Given the description of an element on the screen output the (x, y) to click on. 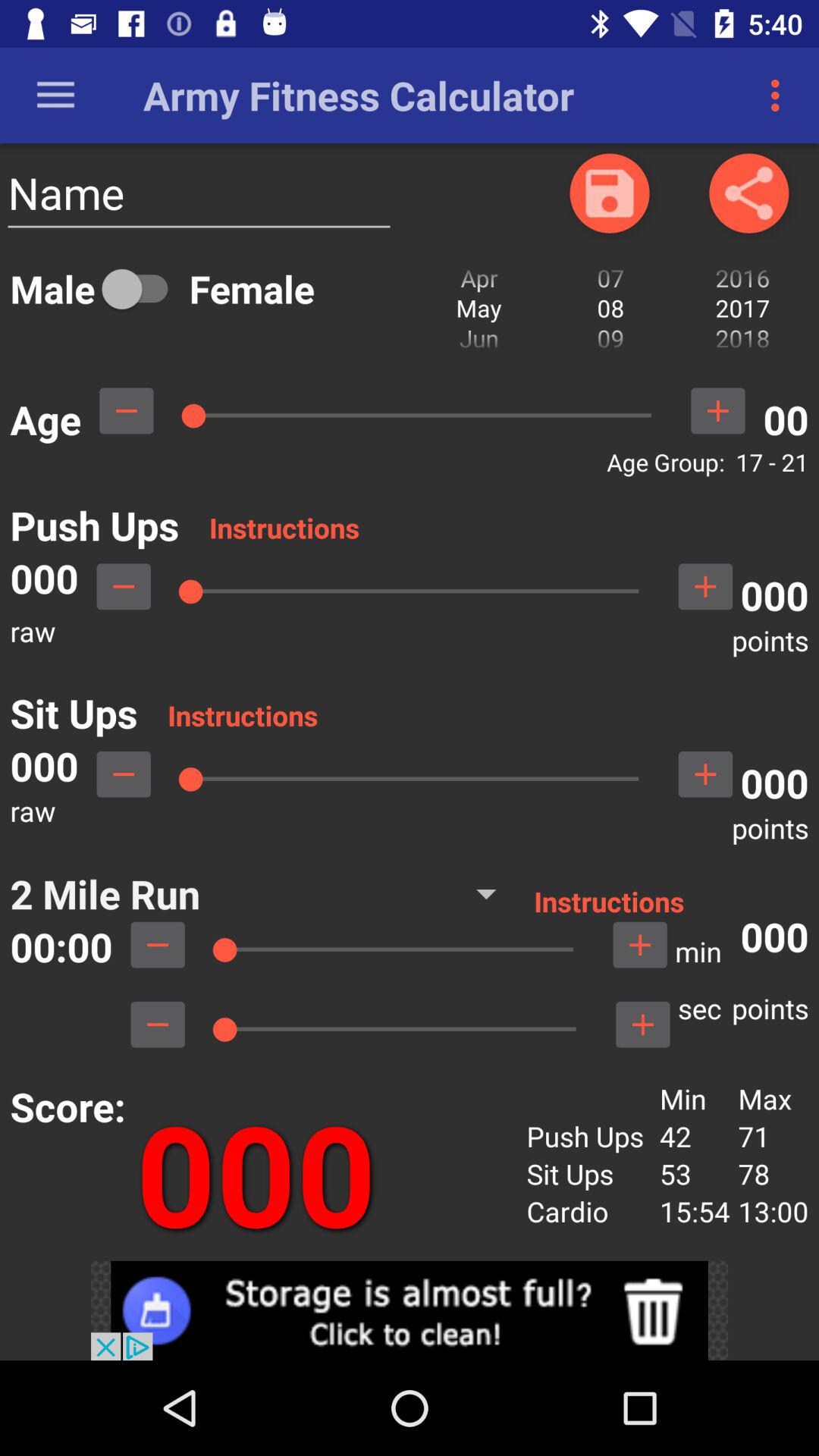
add to sec points (642, 1024)
